Given the description of an element on the screen output the (x, y) to click on. 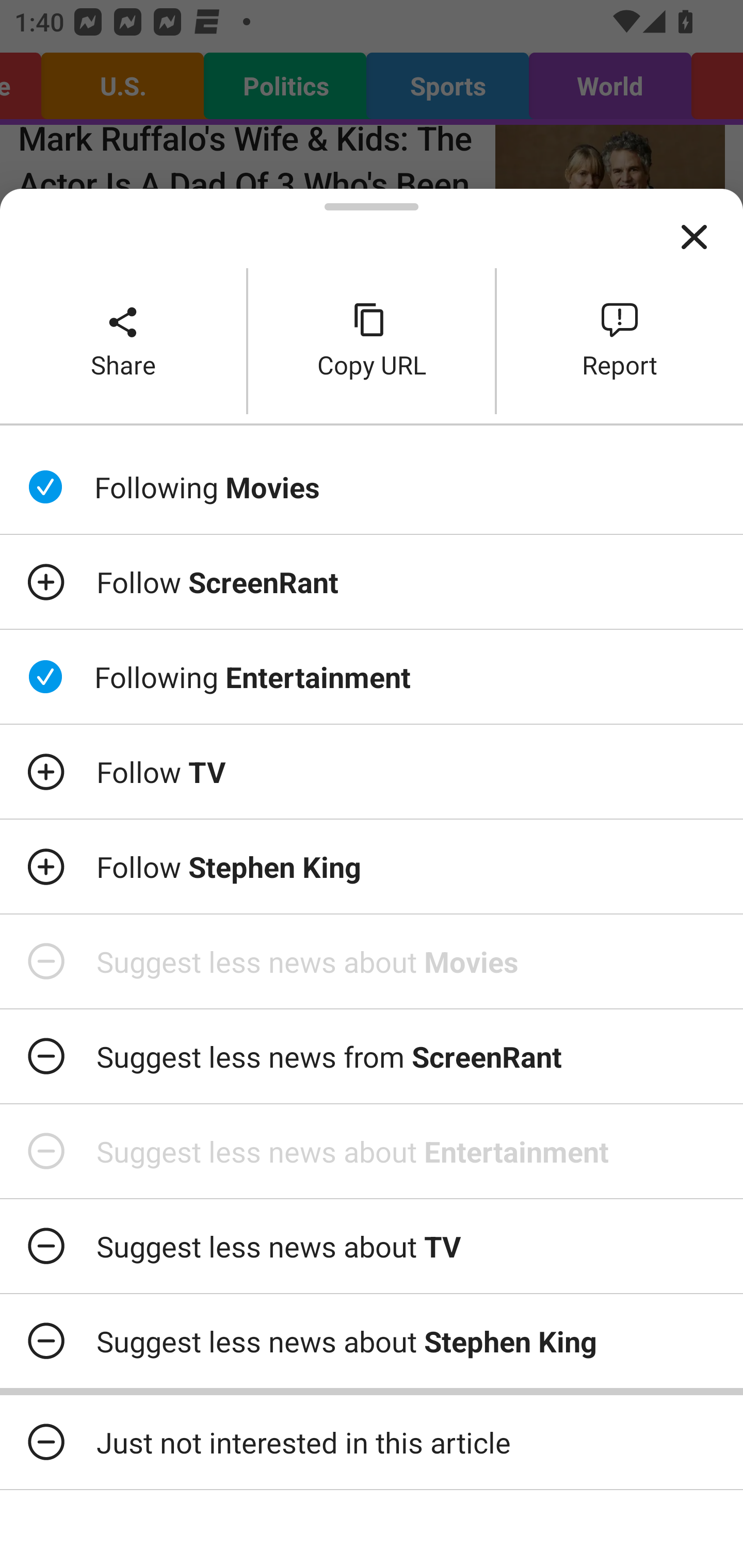
Close (694, 237)
Share (122, 340)
Copy URL (371, 340)
Report (620, 340)
Following Movies (371, 486)
Follow ScreenRant (371, 581)
Following Entertainment (371, 677)
Follow TV (371, 771)
Follow Stephen King (371, 867)
Suggest less news about Movies (371, 961)
Suggest less news from ScreenRant (371, 1056)
Suggest less news about Entertainment (371, 1150)
Suggest less news about TV (371, 1246)
Suggest less news about Stephen King (371, 1340)
Just not interested in this article (371, 1442)
